Given the description of an element on the screen output the (x, y) to click on. 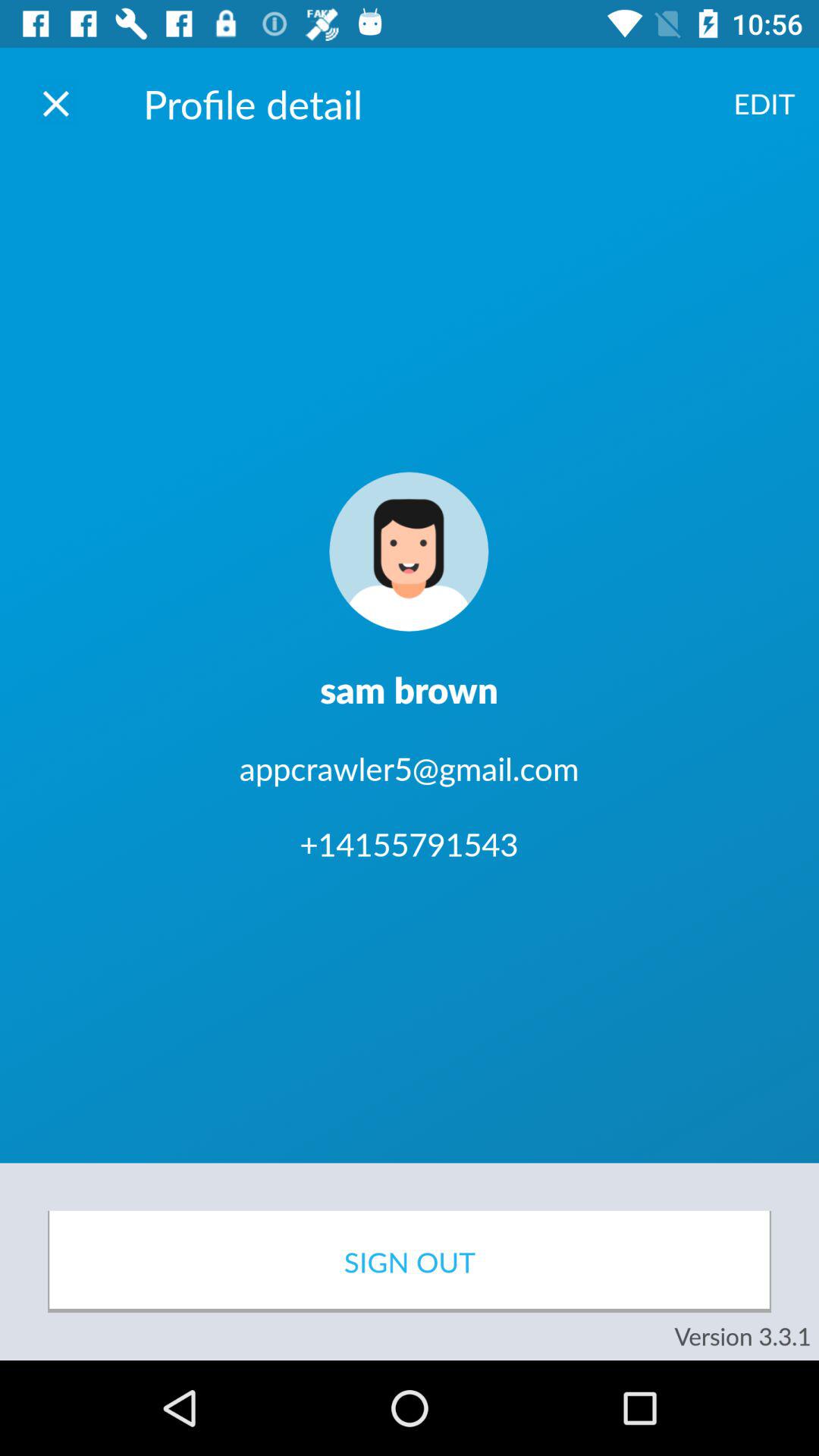
click the icon to the right of profile detail item (764, 103)
